Given the description of an element on the screen output the (x, y) to click on. 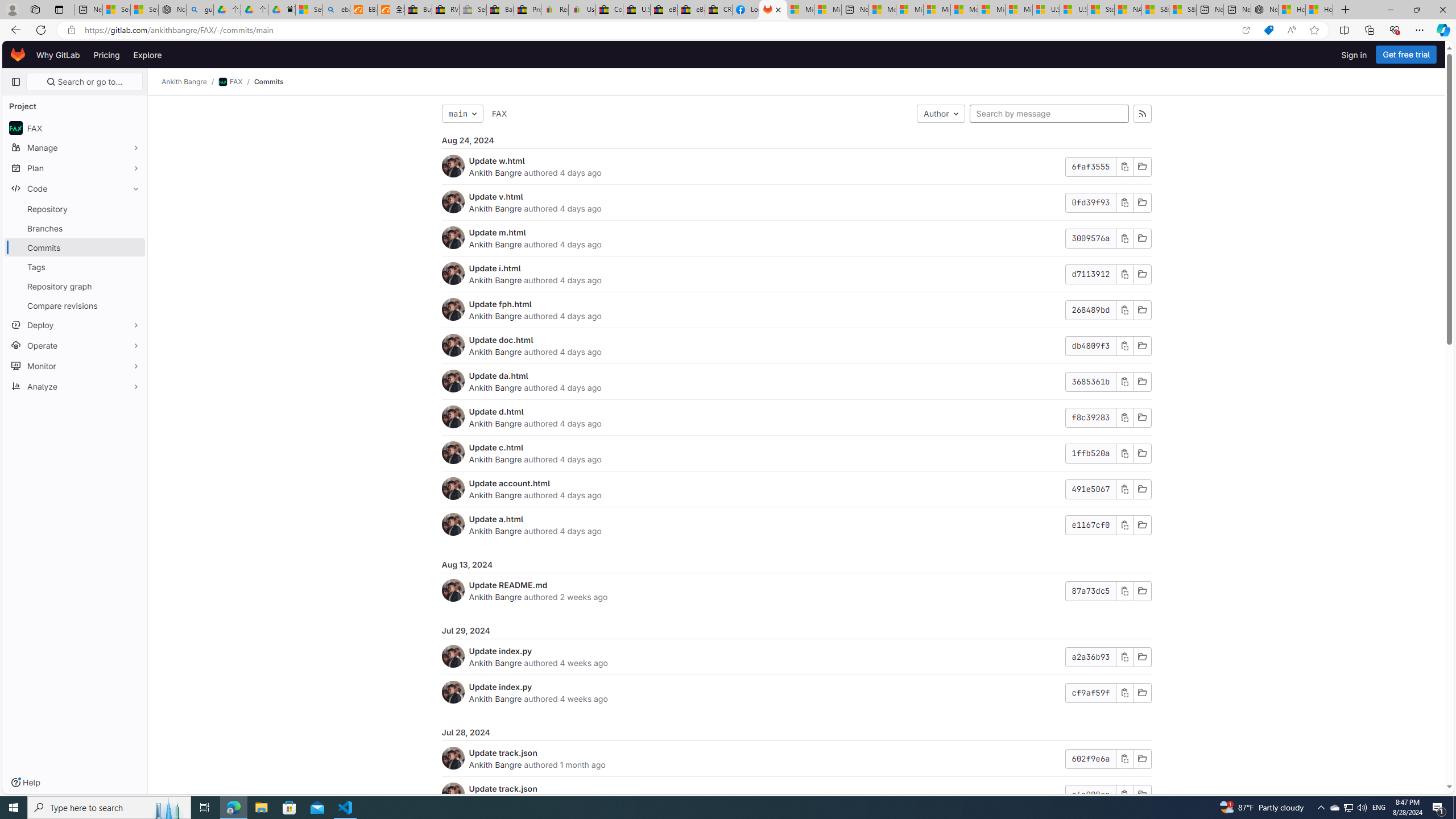
Code (74, 188)
Press Room - eBay Inc. (527, 9)
Update c.htmlAnkith Bangre authored 4 days ago1ffb520a (796, 453)
Analyze (74, 385)
Sign in (1353, 54)
Sign in (1353, 54)
Update index.pyAnkith Bangre authored 4 weeks agoa2a36b93 (796, 656)
Open in app (1245, 29)
